Given the description of an element on the screen output the (x, y) to click on. 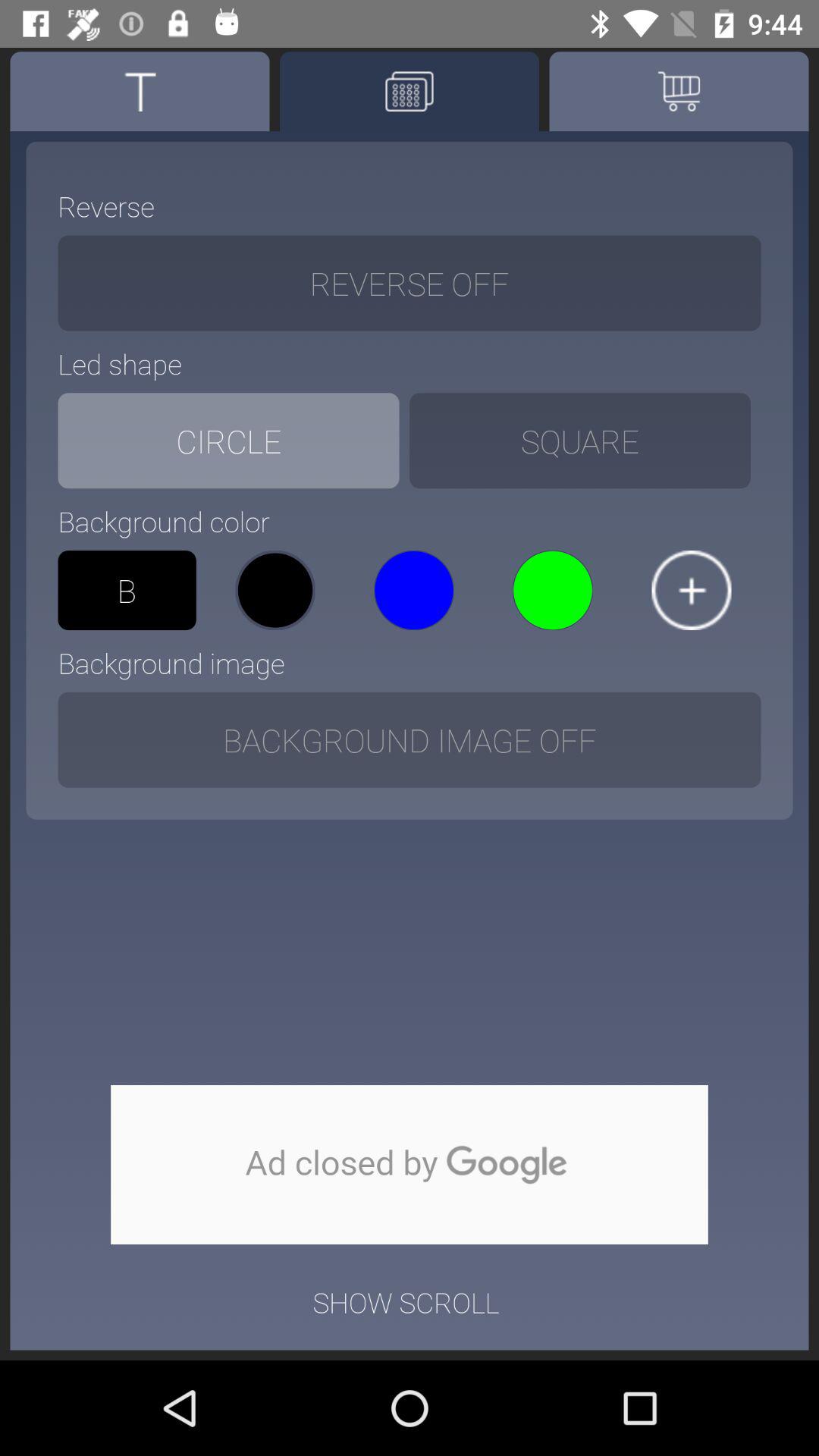
go to cart (678, 91)
